Given the description of an element on the screen output the (x, y) to click on. 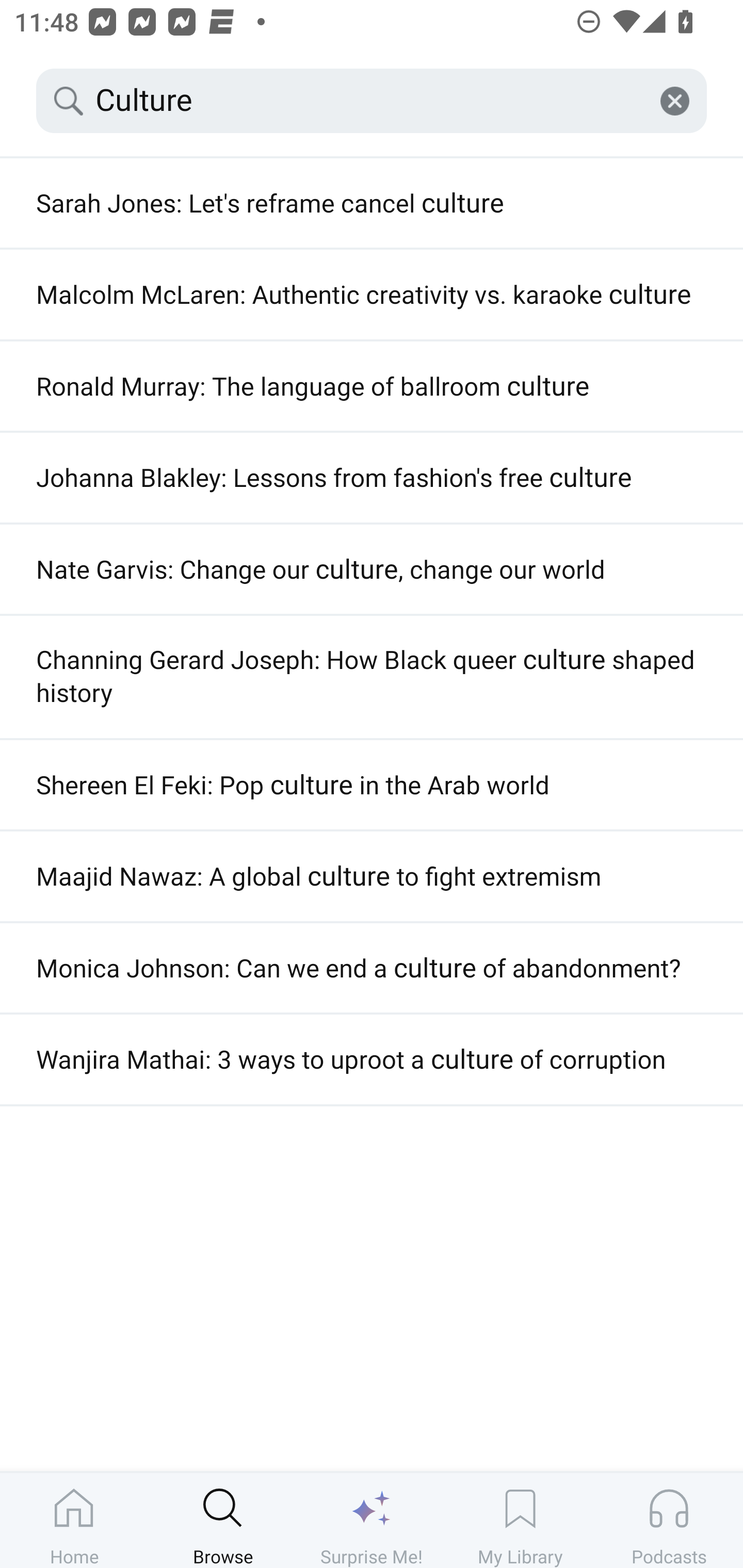
Culture (371, 100)
Sarah Jones: Let's reframe cancel culture (371, 202)
Ronald Murray: The language of ballroom culture (371, 386)
Nate Garvis: Change our culture, change our world (371, 569)
Shereen El Feki: Pop culture in the Arab world (371, 784)
Maajid Nawaz: A global culture to fight extremism (371, 876)
Home (74, 1520)
Browse (222, 1520)
Surprise Me! (371, 1520)
My Library (519, 1520)
Podcasts (668, 1520)
